Given the description of an element on the screen output the (x, y) to click on. 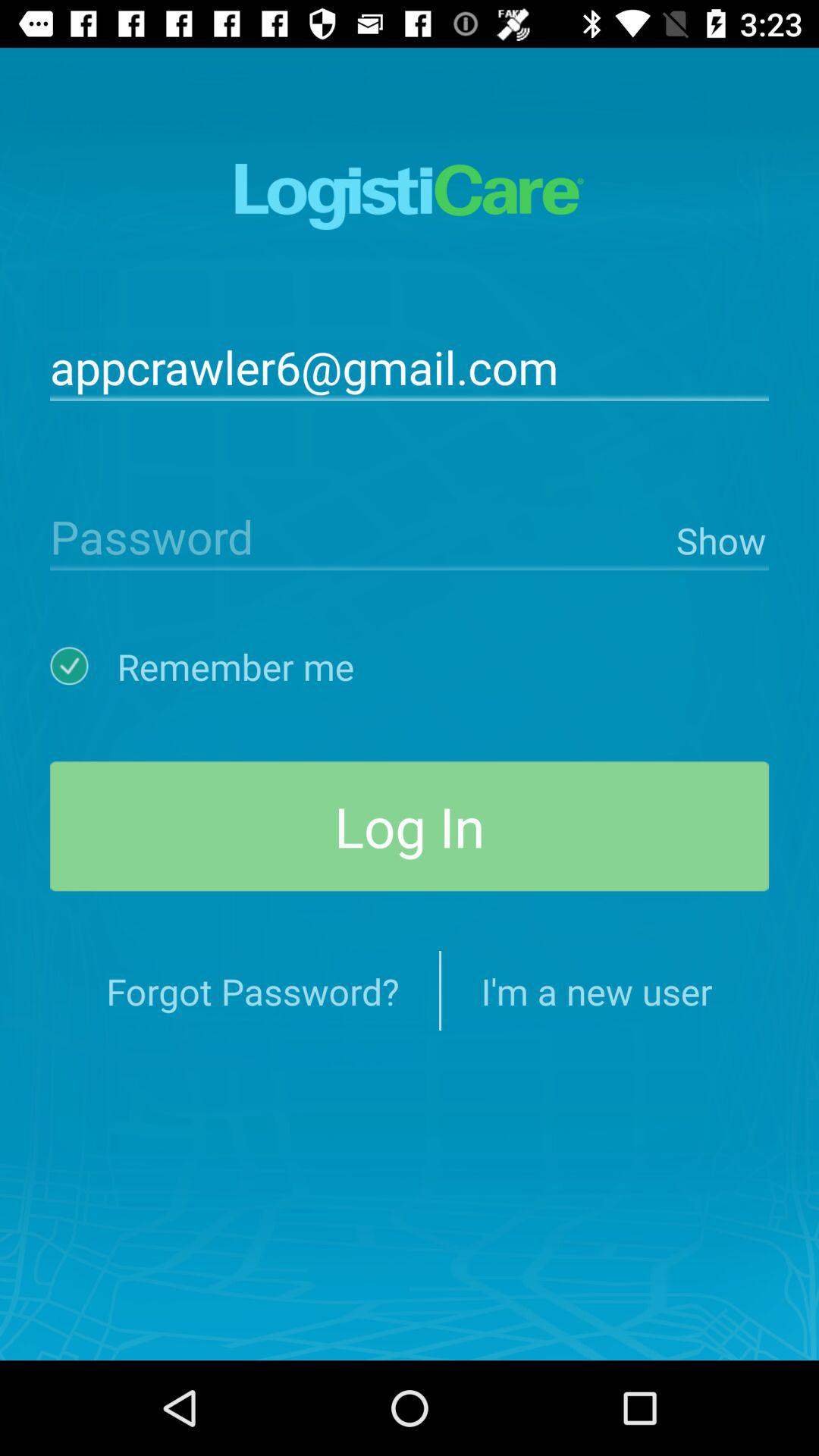
tap the forgot password? at the bottom left corner (252, 990)
